Given the description of an element on the screen output the (x, y) to click on. 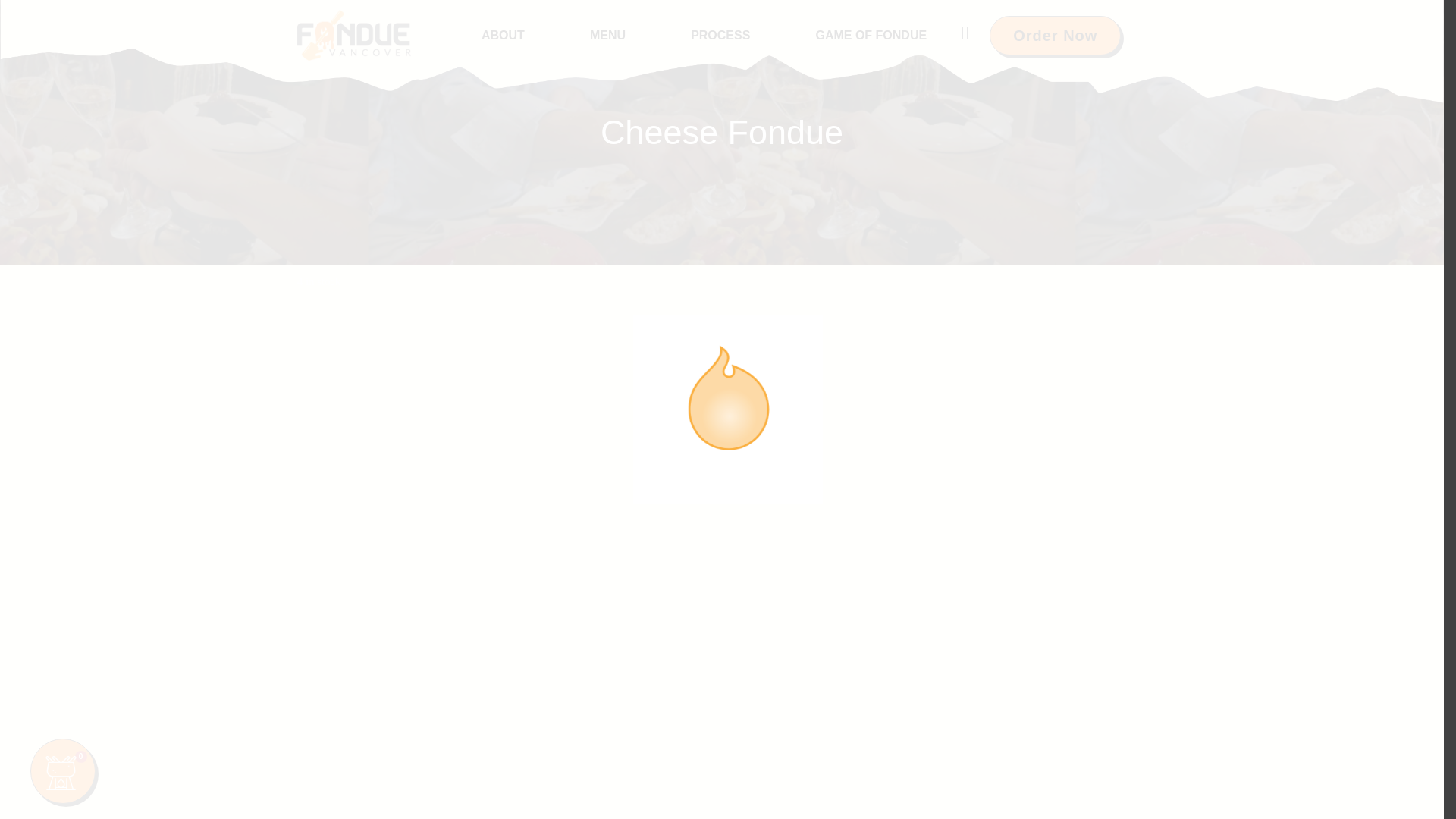
PROCESS (719, 35)
Order Now (1055, 35)
GAME OF FONDUE (871, 35)
ABOUT (502, 35)
0 (63, 770)
MENU (607, 35)
